Given the description of an element on the screen output the (x, y) to click on. 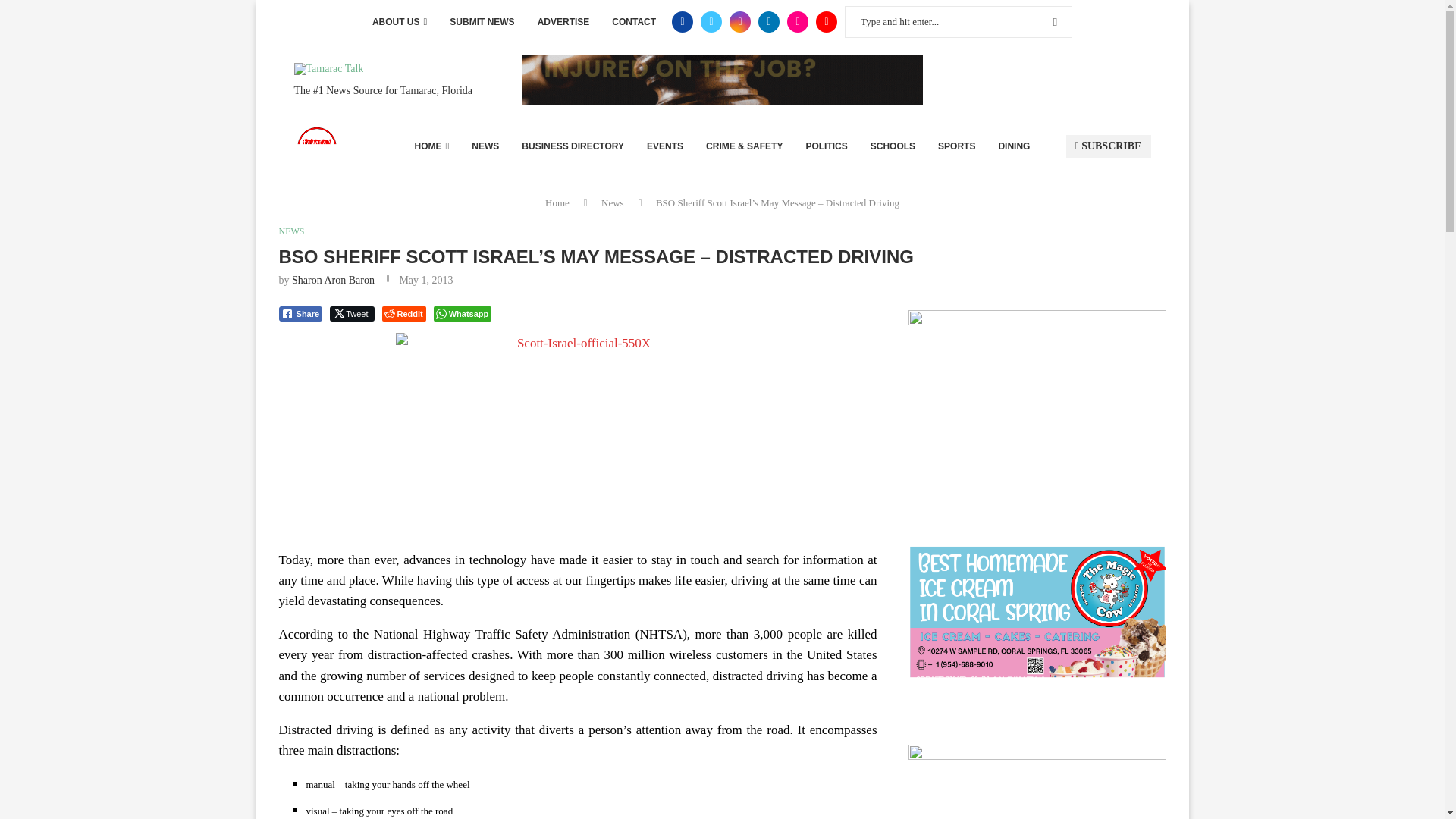
CONTACT (633, 22)
ADVERTISE (563, 22)
SUBSCRIBE (1108, 146)
BUSINESS DIRECTORY (572, 146)
POLITICS (826, 146)
ABOUT US (399, 22)
SUBMIT NEWS (481, 22)
SCHOOLS (892, 146)
